Given the description of an element on the screen output the (x, y) to click on. 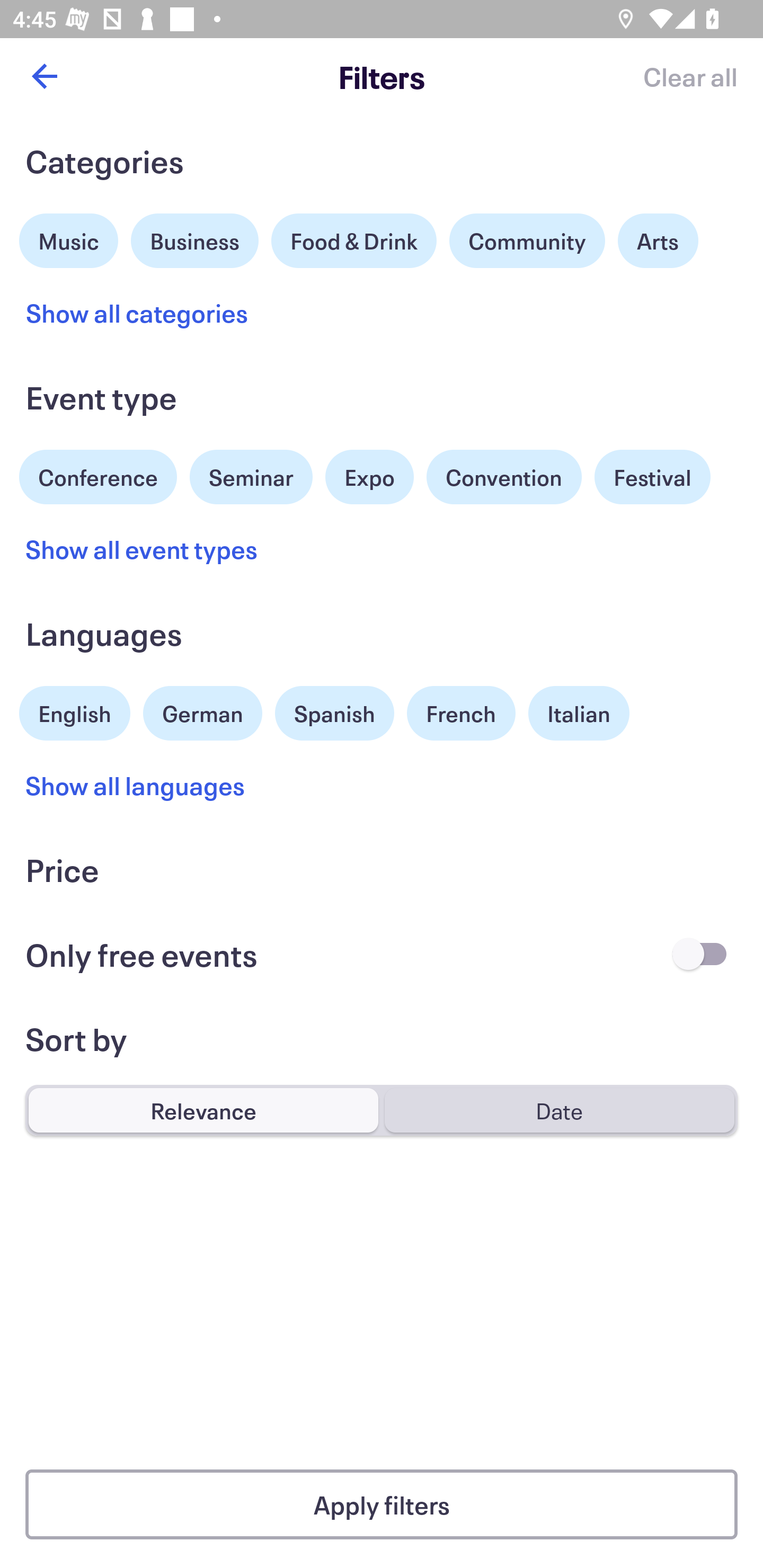
Back button (44, 75)
Clear all (690, 75)
Music (68, 238)
Business (194, 238)
Food & Drink (353, 240)
Community (527, 240)
Arts (658, 240)
Show all categories (136, 312)
Conference (98, 475)
Seminar (250, 477)
Expo (369, 477)
Convention (503, 477)
Festival (652, 477)
Show all event types (141, 548)
English (74, 710)
German (202, 710)
Spanish (334, 713)
French (460, 713)
Italian (578, 713)
Show all languages (135, 784)
Relevance (203, 1109)
Date (559, 1109)
Apply filters (381, 1504)
